Given the description of an element on the screen output the (x, y) to click on. 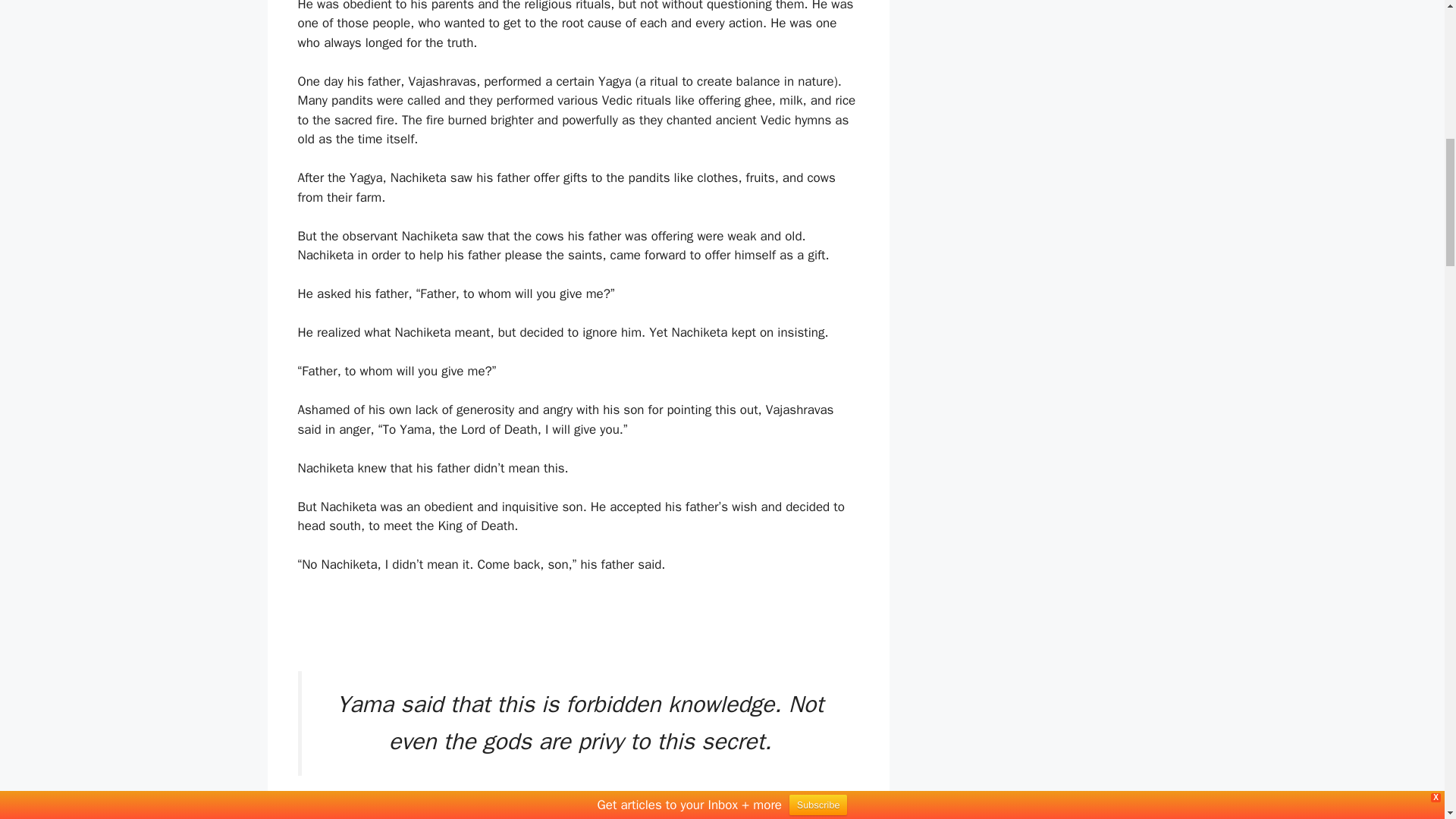
Scroll back to top (1406, 720)
